Given the description of an element on the screen output the (x, y) to click on. 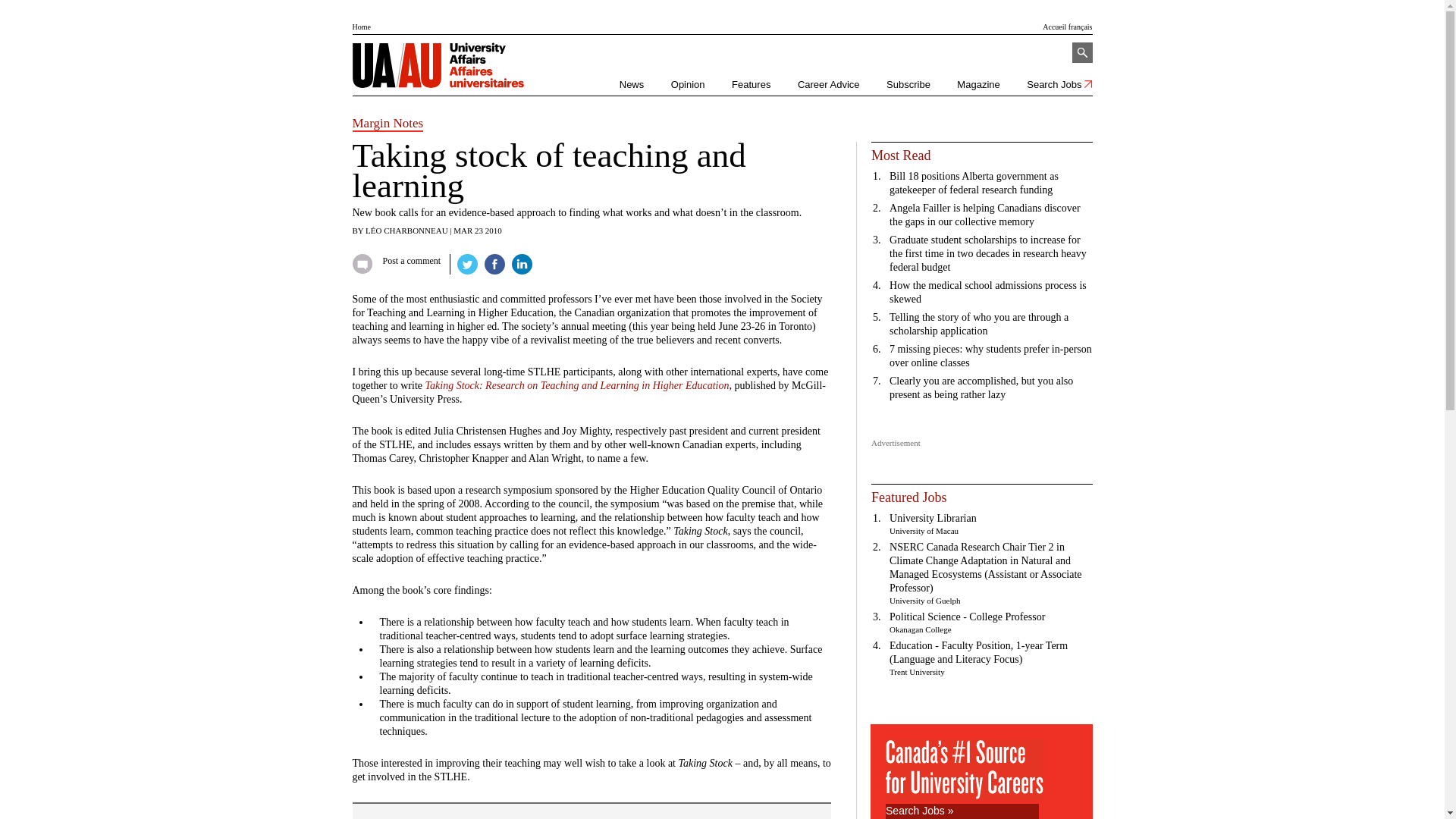
Magazine (977, 84)
Search (1082, 52)
Search (1082, 52)
Home (360, 26)
News (632, 84)
Features (751, 84)
Search Jobs (1059, 84)
Career Advice (828, 84)
Subscribe (908, 84)
Opinion (687, 84)
